Given the description of an element on the screen output the (x, y) to click on. 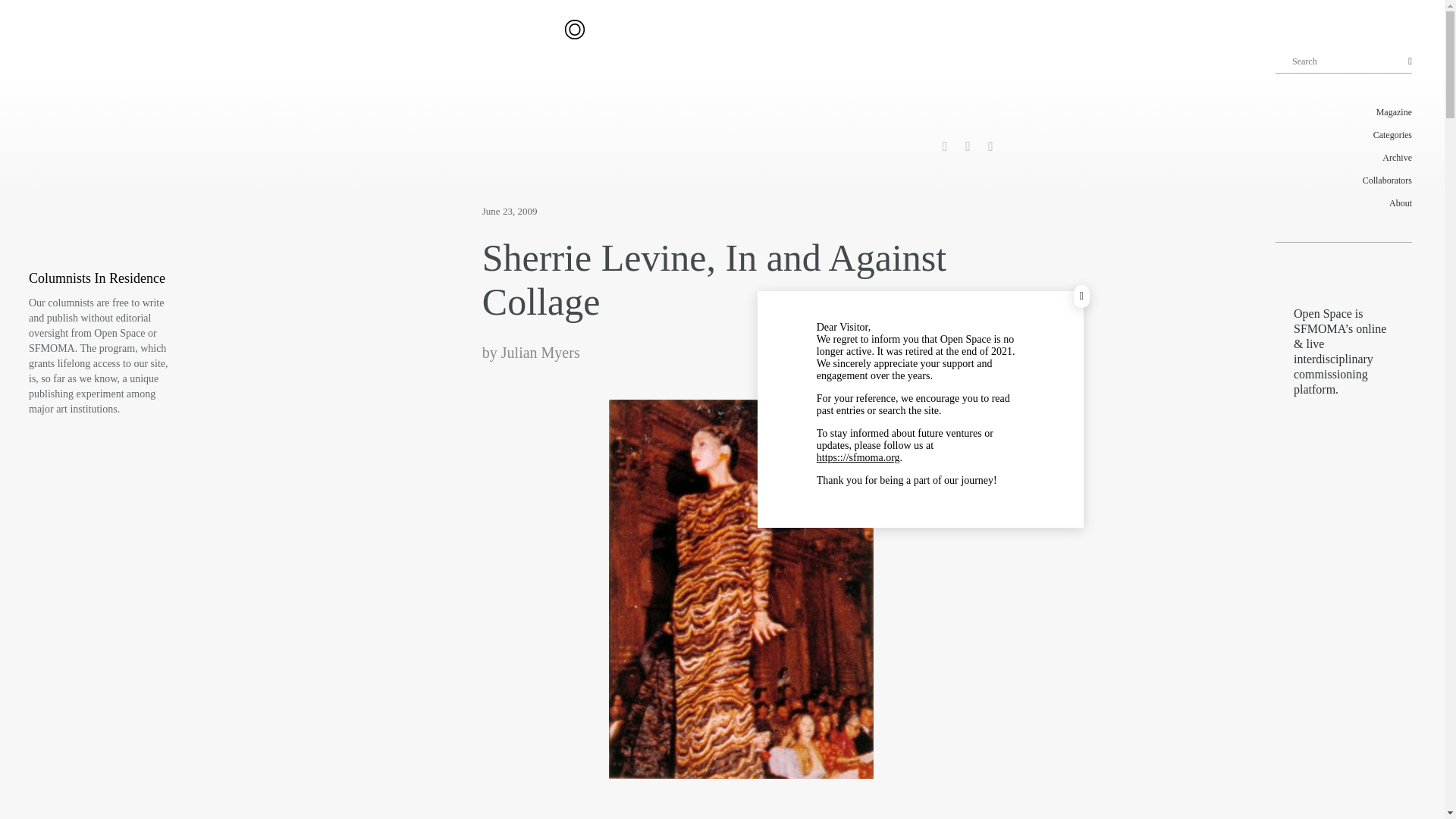
Magazine (1343, 111)
Columnists In Residence (97, 278)
www.sfmoma.org (857, 457)
Categories (1343, 134)
View all posts in Columnists In Residence (97, 278)
Julian Myers (539, 352)
Archive (1343, 157)
Collaborators (1343, 179)
